Given the description of an element on the screen output the (x, y) to click on. 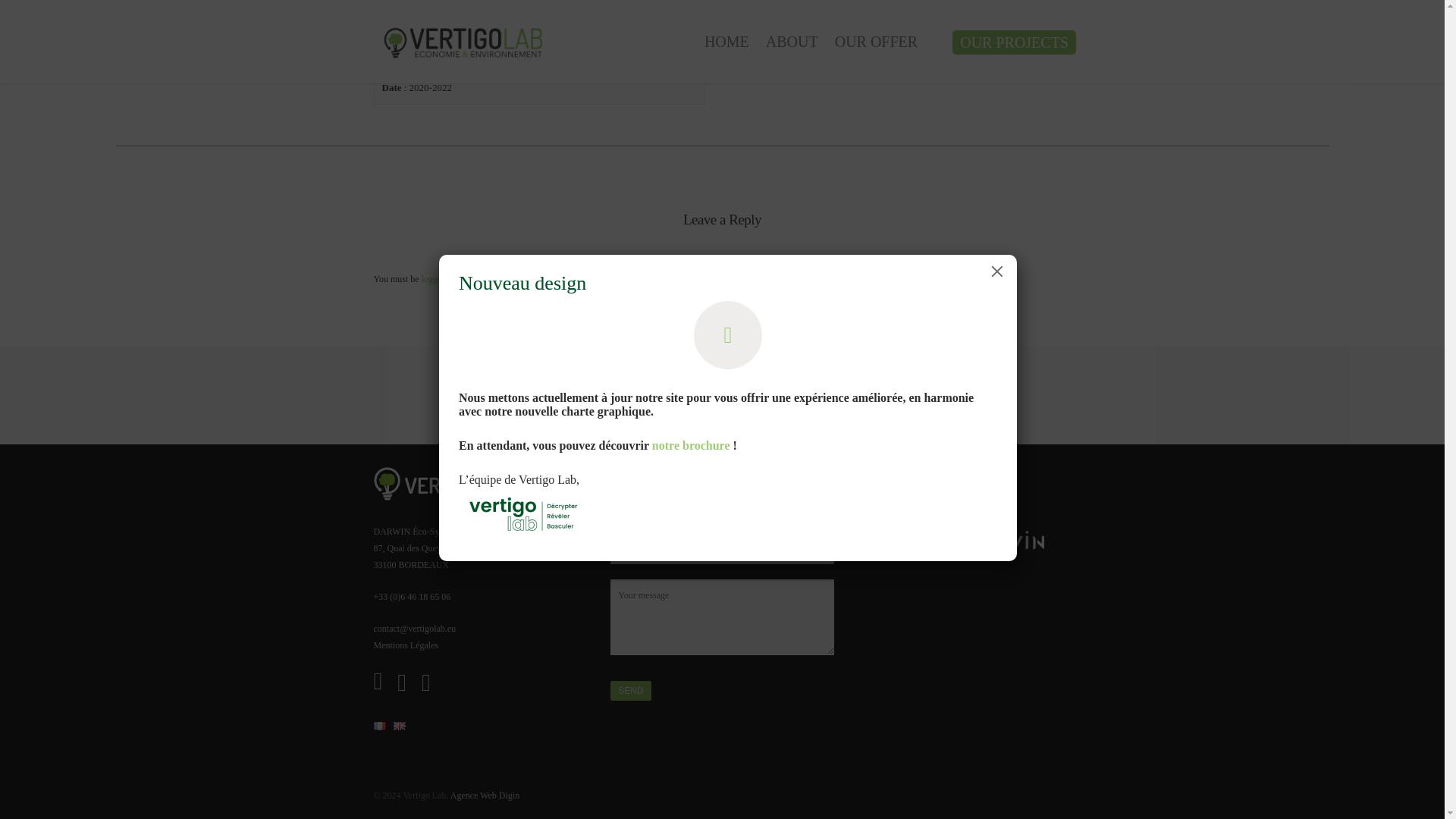
Send (630, 690)
